Given the description of an element on the screen output the (x, y) to click on. 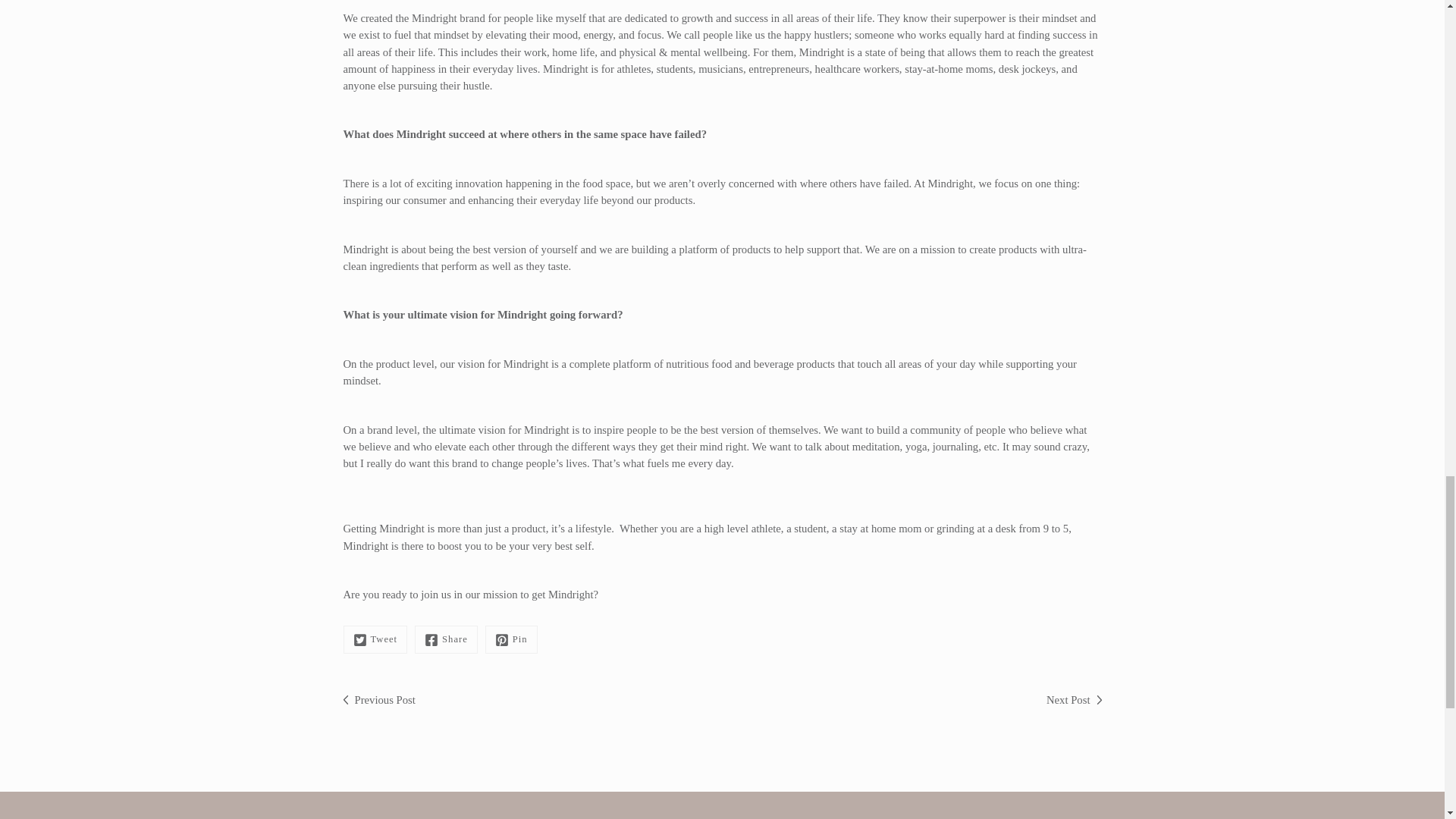
Pinterest (510, 639)
Tweet (374, 639)
Twitter (374, 639)
Previous Post (378, 699)
Pin (510, 639)
Next Post (1074, 699)
Facebook (445, 639)
Share (445, 639)
